Given the description of an element on the screen output the (x, y) to click on. 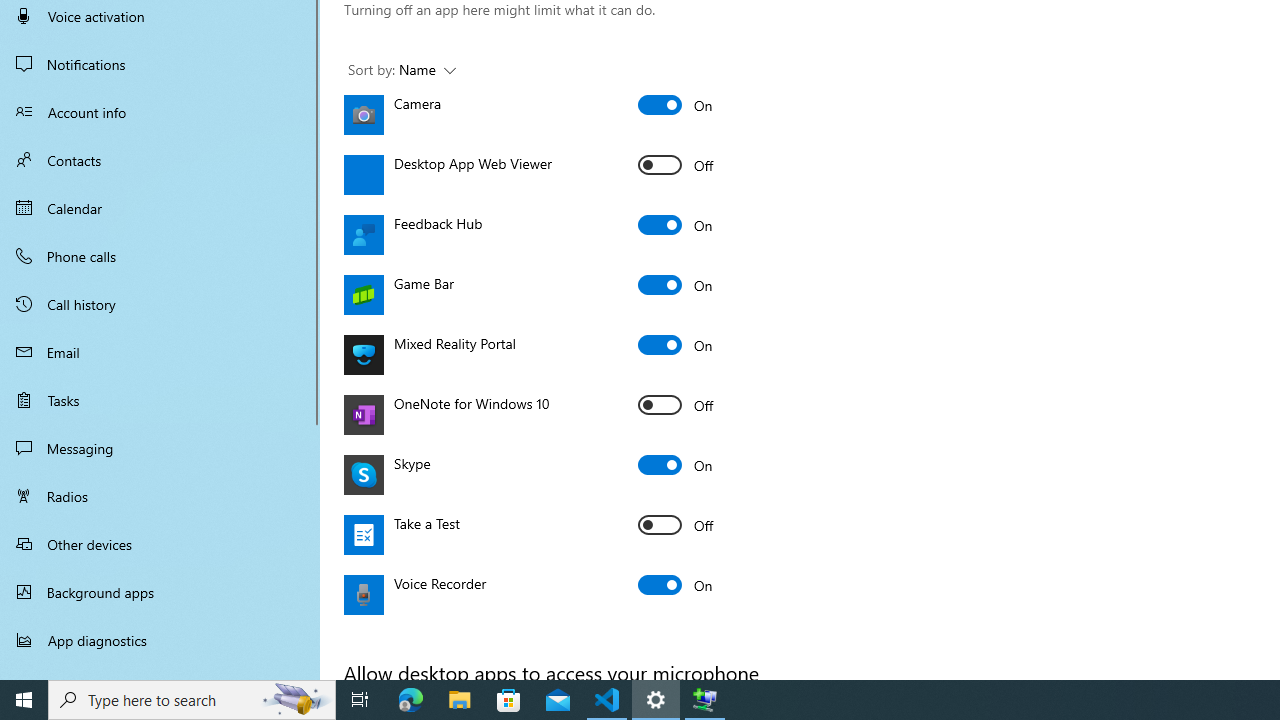
Email (160, 351)
Automatic file downloads (160, 671)
App diagnostics (160, 639)
Game Bar (675, 284)
Call history (160, 304)
